Given the description of an element on the screen output the (x, y) to click on. 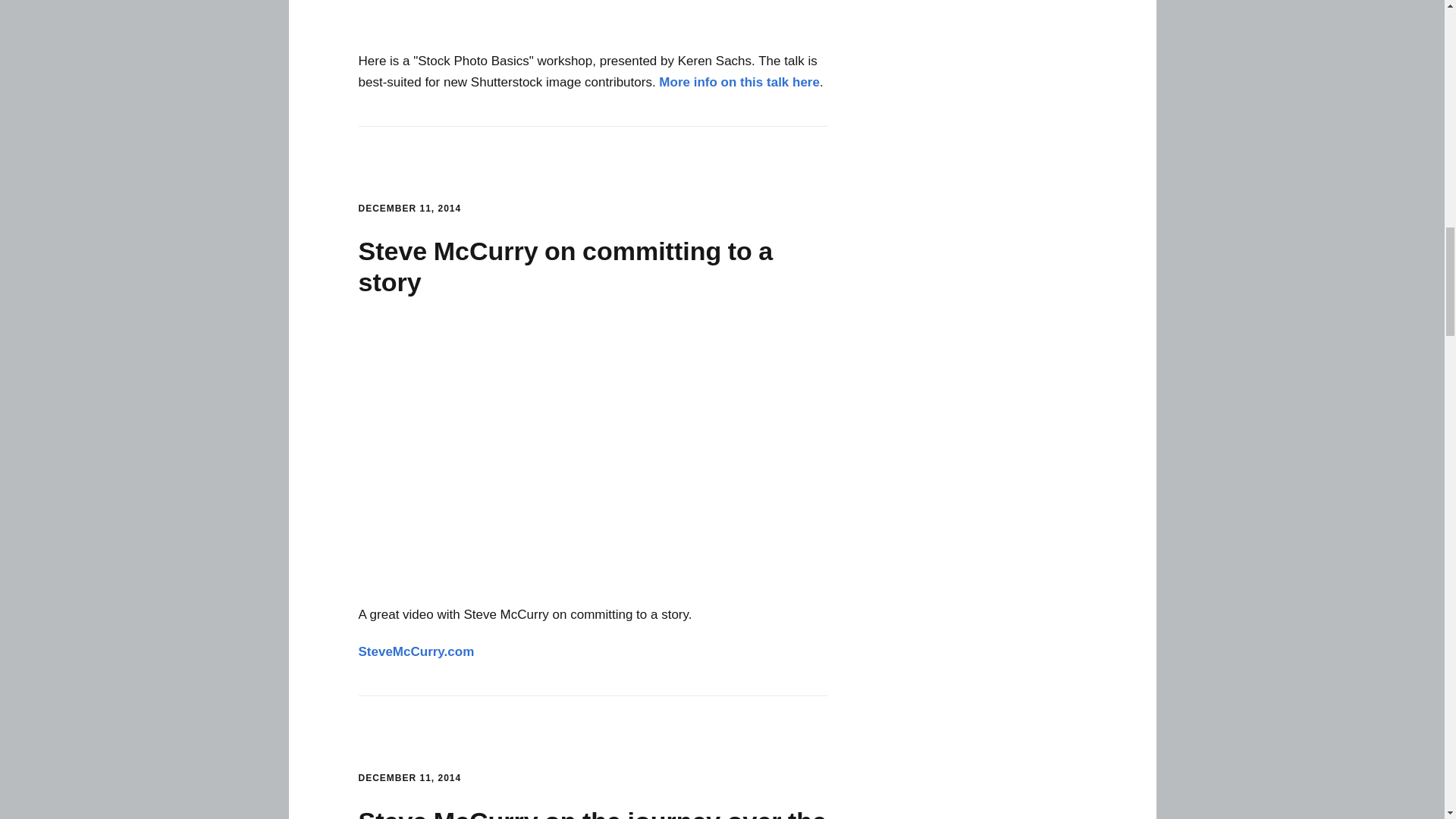
Steve McCurry on committing to a story (565, 266)
SteveMcCurry.com (416, 651)
More info on this talk here (739, 82)
Steve McCurry on committing to a story (593, 455)
DECEMBER 11, 2014 (409, 208)
ShutterTalk Live: How to shoot stock photography (593, 17)
